Given the description of an element on the screen output the (x, y) to click on. 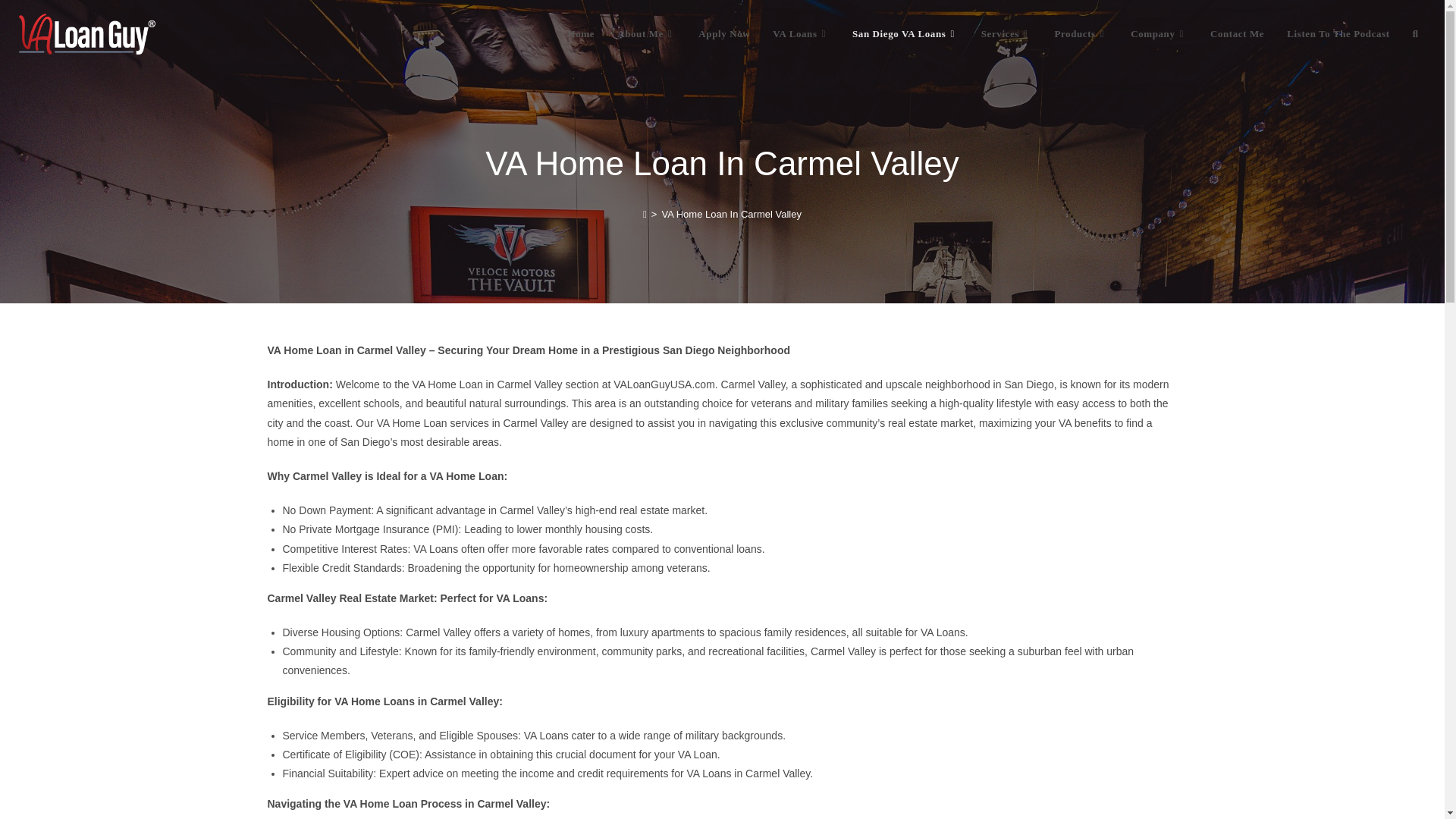
San Diego VA Loans (905, 33)
VA Loans (801, 33)
Apply Now (724, 33)
ll - VA Loan Guy USA (86, 33)
About Me (646, 33)
Home (581, 33)
